Given the description of an element on the screen output the (x, y) to click on. 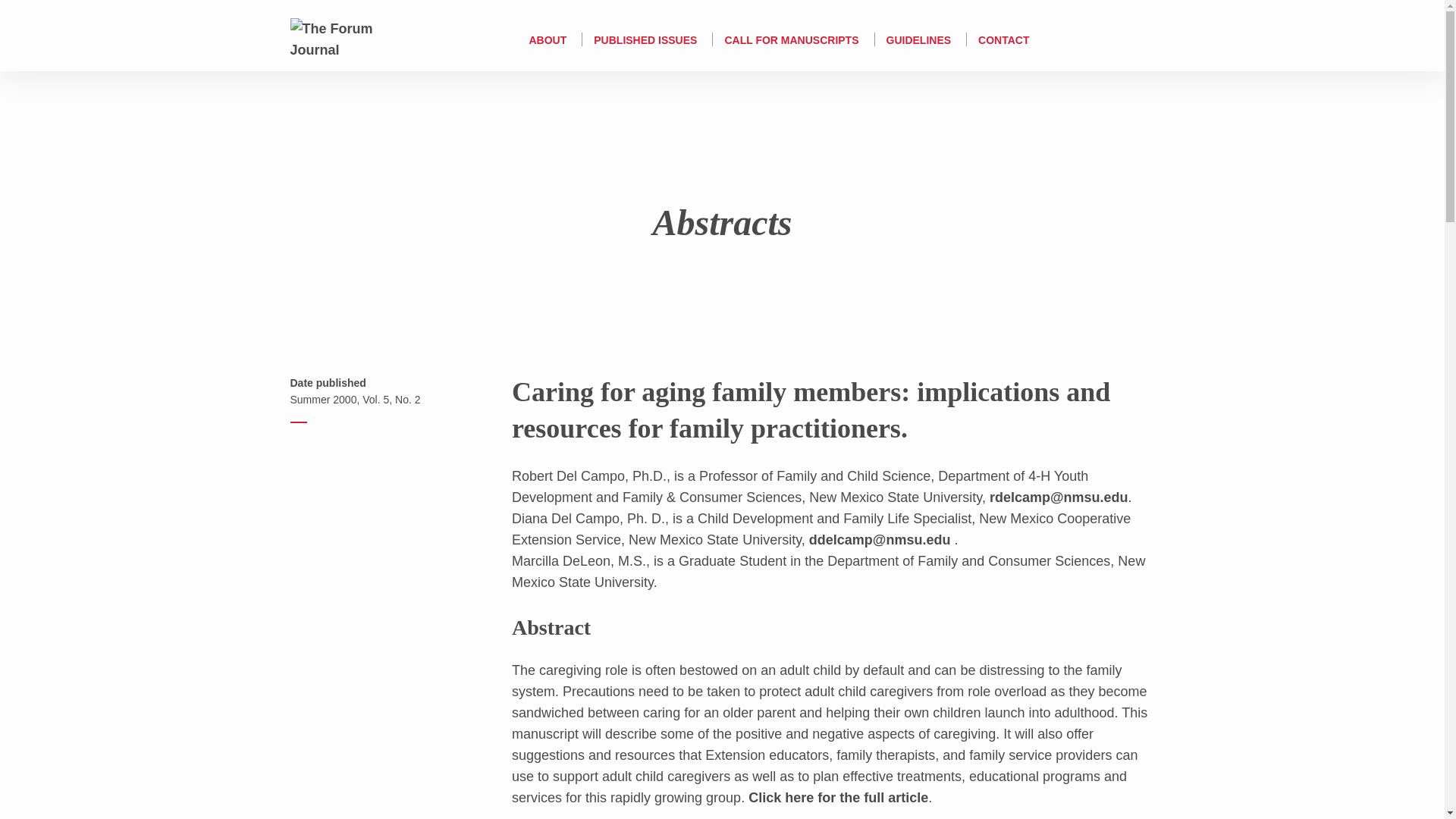
CONTACT (1003, 39)
CALL FOR MANUSCRIPTS (791, 39)
ABOUT (547, 39)
The Forum Journal (346, 38)
GUIDELINES (919, 39)
PUBLISHED ISSUES (645, 39)
Click here for the full article (838, 797)
